Given the description of an element on the screen output the (x, y) to click on. 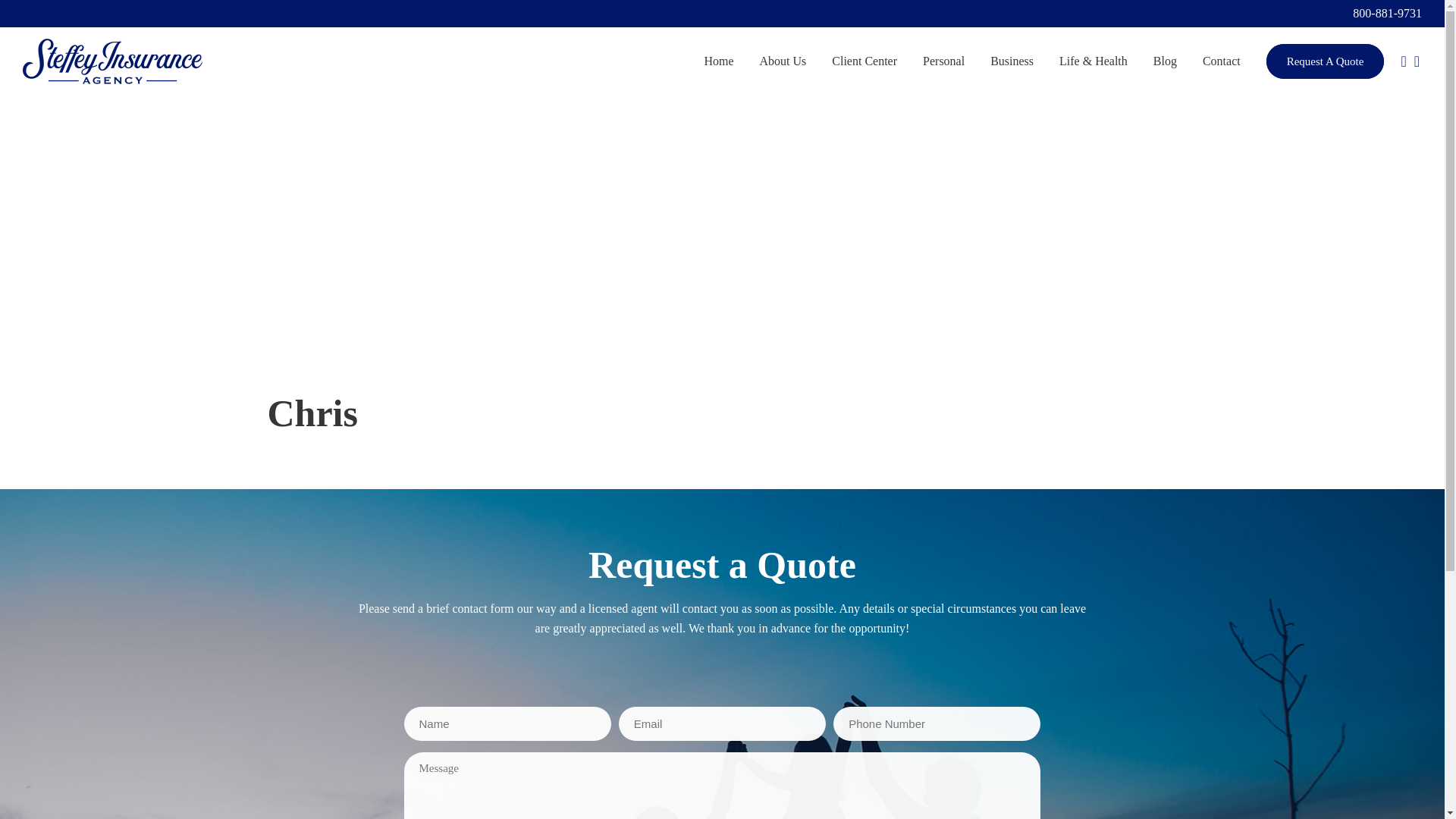
Business (1011, 61)
About Us (782, 61)
Home (718, 61)
Contact (1221, 61)
Request A Quote (1325, 61)
Personal (943, 61)
Blog (1164, 61)
Client Center (864, 61)
800-881-9731 (1387, 12)
